Given the description of an element on the screen output the (x, y) to click on. 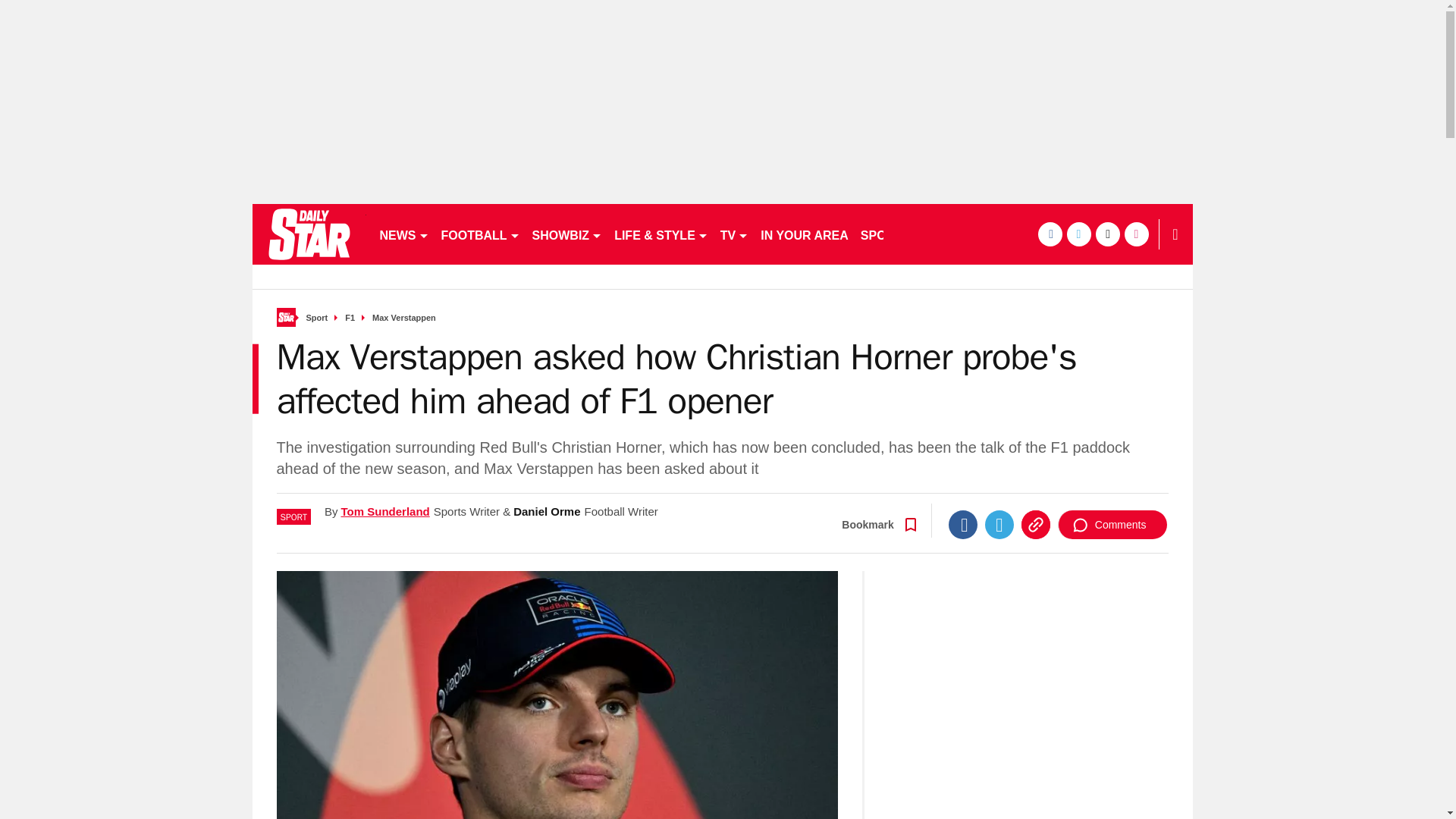
Facebook (962, 524)
Twitter (999, 524)
facebook (1048, 233)
dailystar (308, 233)
tiktok (1106, 233)
Comments (1112, 524)
instagram (1136, 233)
twitter (1077, 233)
NEWS (402, 233)
FOOTBALL (480, 233)
